Given the description of an element on the screen output the (x, y) to click on. 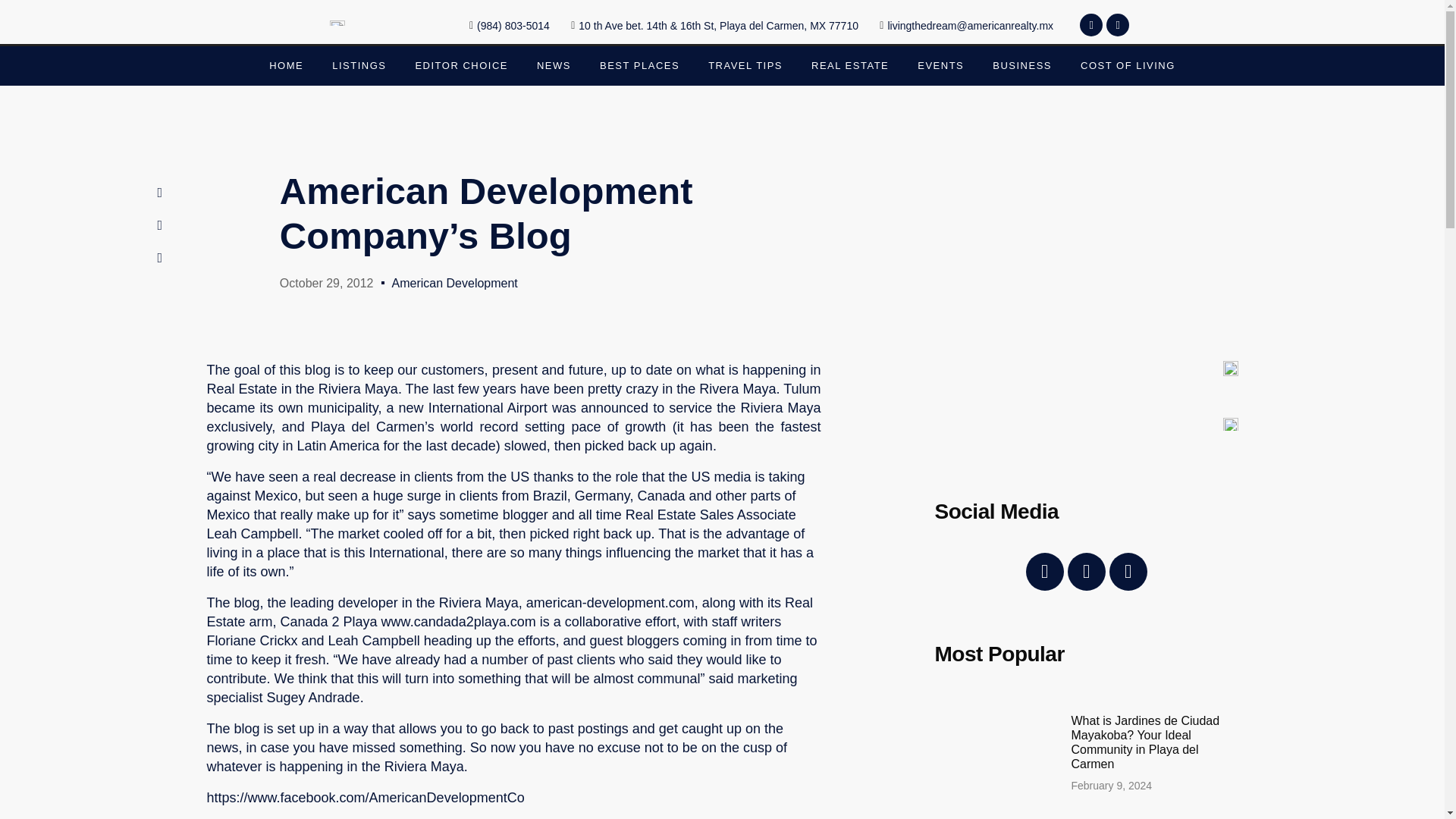
NEWS (553, 65)
HOME (285, 65)
BUSINESS (1021, 65)
BEST PLACES (639, 65)
TRAVEL TIPS (745, 65)
EVENTS (940, 65)
REAL ESTATE (849, 65)
COST OF LIVING (1127, 65)
EDITOR CHOICE (461, 65)
LISTINGS (358, 65)
